Given the description of an element on the screen output the (x, y) to click on. 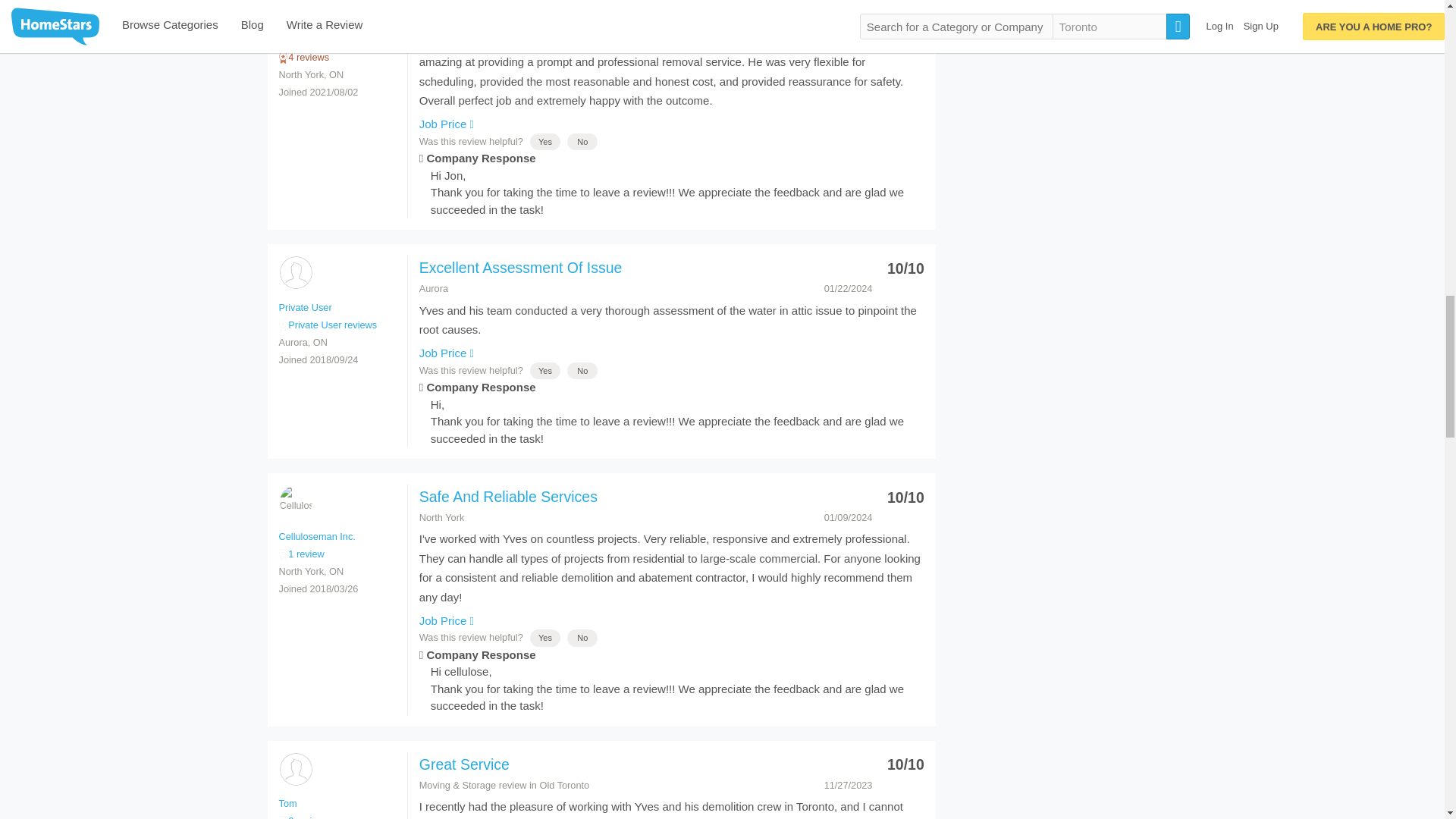
Private User (295, 272)
Celluloseman Inc. (295, 501)
Jon (295, 11)
Tom (295, 768)
